Given the description of an element on the screen output the (x, y) to click on. 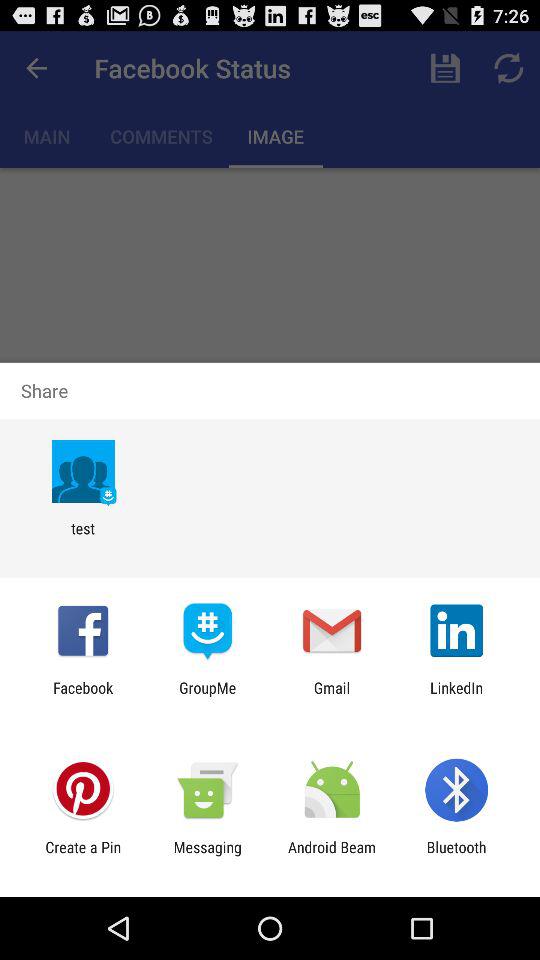
press android beam item (332, 856)
